Given the description of an element on the screen output the (x, y) to click on. 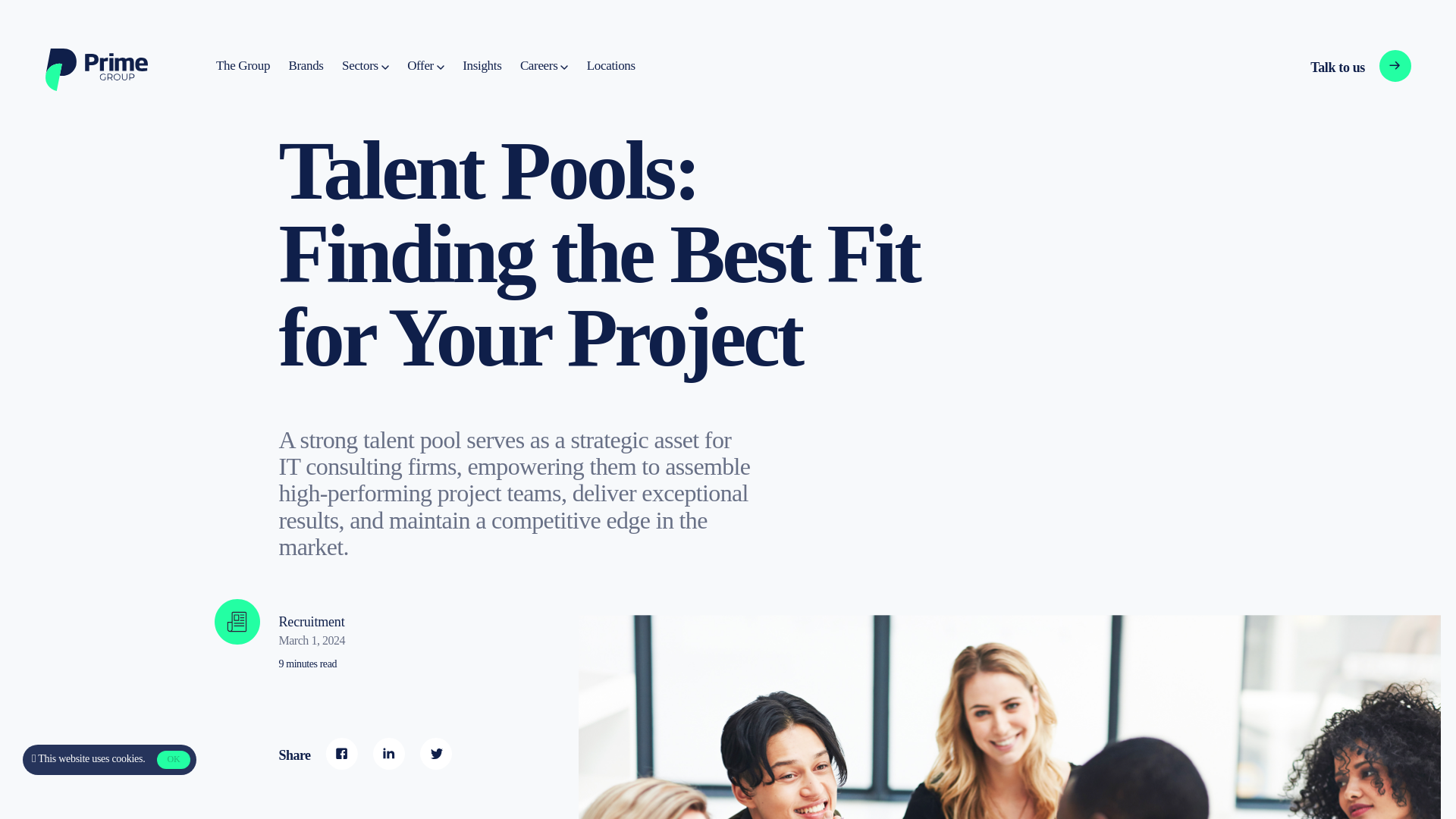
Careers (543, 66)
Offer (425, 66)
OK (173, 760)
Sectors (1334, 67)
The Group (365, 66)
uses cookies. (242, 66)
Locations (117, 758)
Insights (610, 66)
Brands (481, 66)
